Given the description of an element on the screen output the (x, y) to click on. 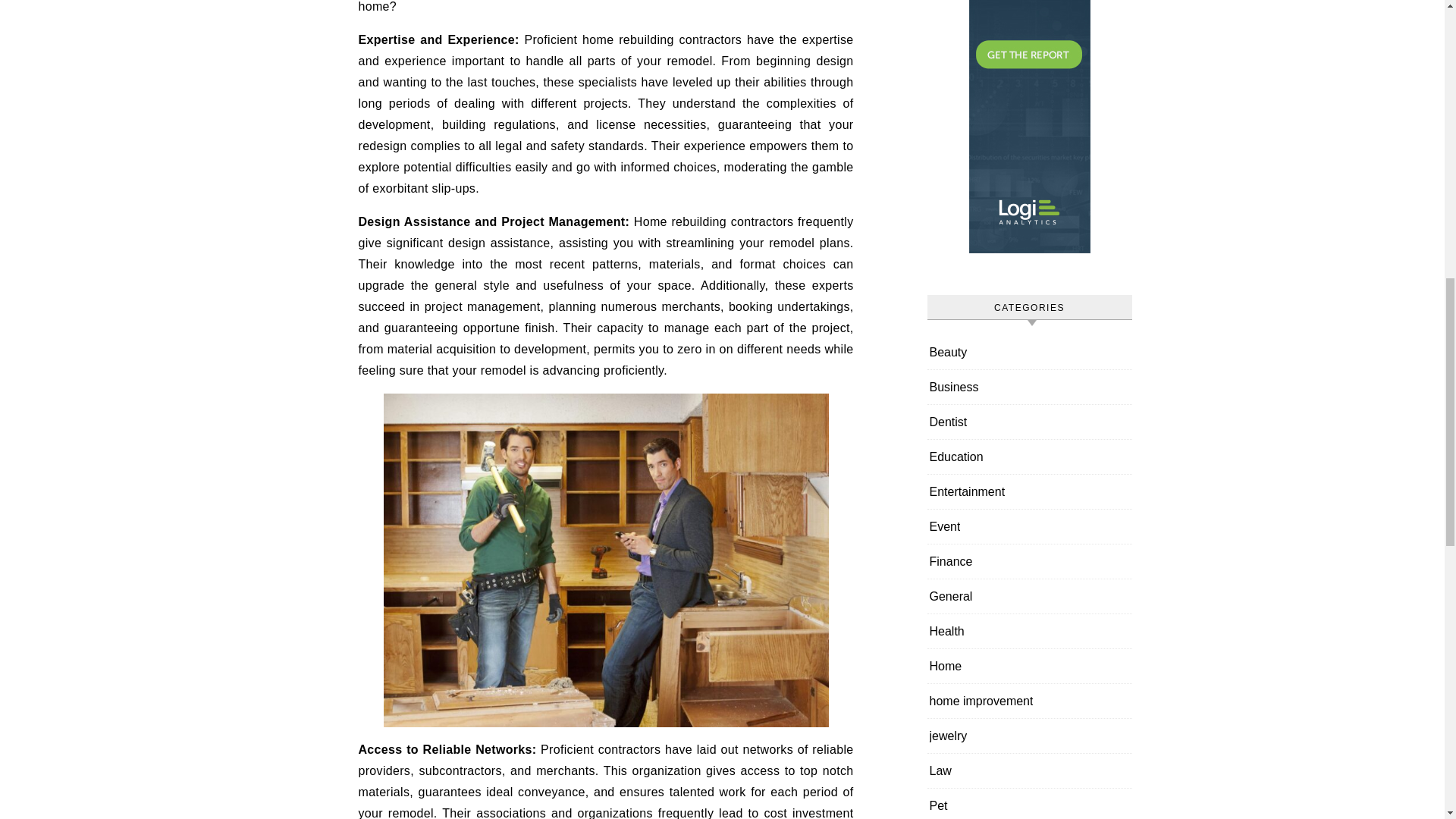
General (951, 596)
Business (954, 387)
Event (945, 526)
Dentist (949, 421)
Entertainment (968, 491)
Finance (951, 561)
Education (957, 456)
Beauty (949, 351)
